Given the description of an element on the screen output the (x, y) to click on. 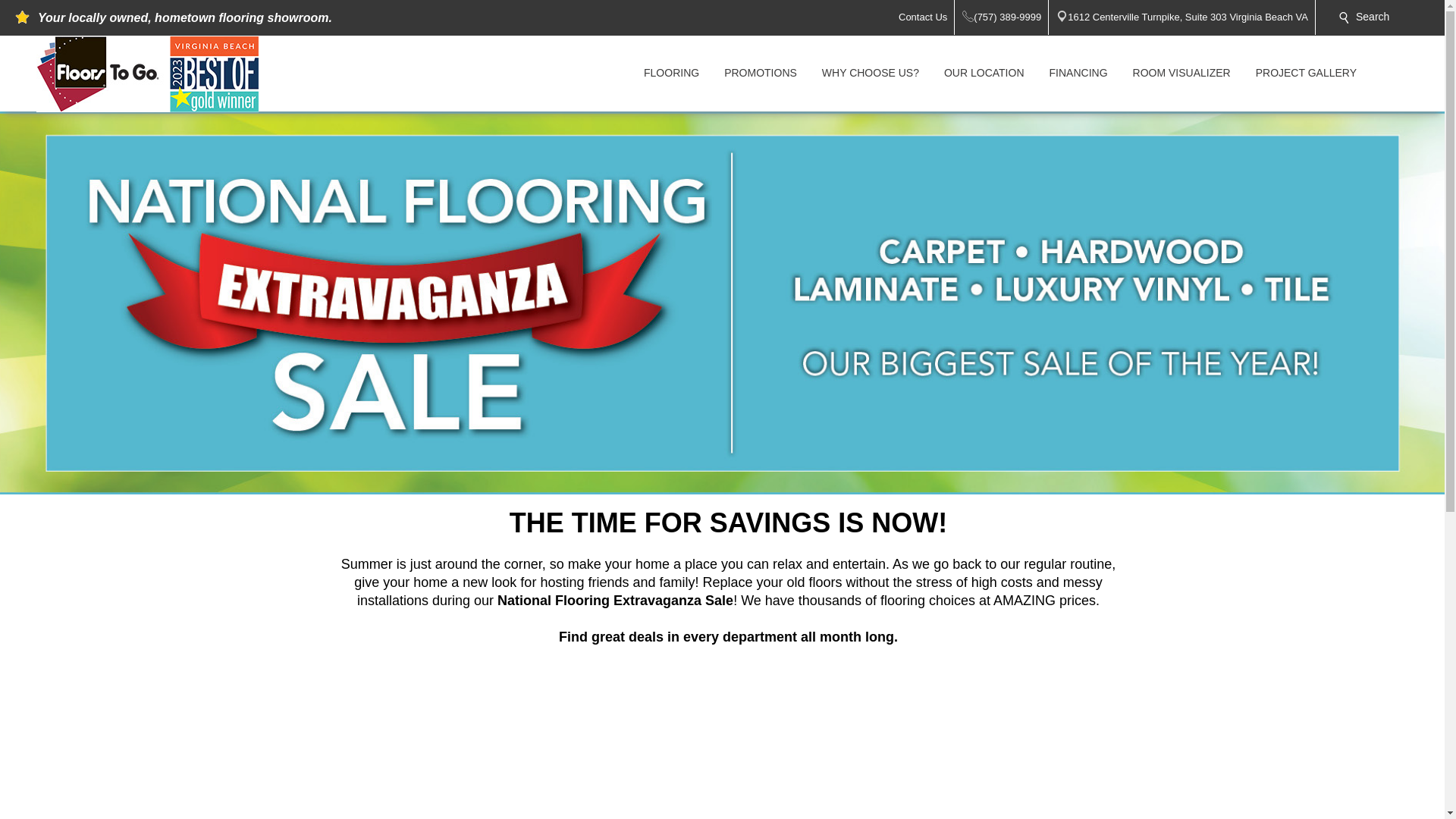
FLOORING (671, 73)
Contact Us (926, 17)
1612 Centerville Turnpike, Suite 303 Virginia Beach VA (1191, 17)
